Given the description of an element on the screen output the (x, y) to click on. 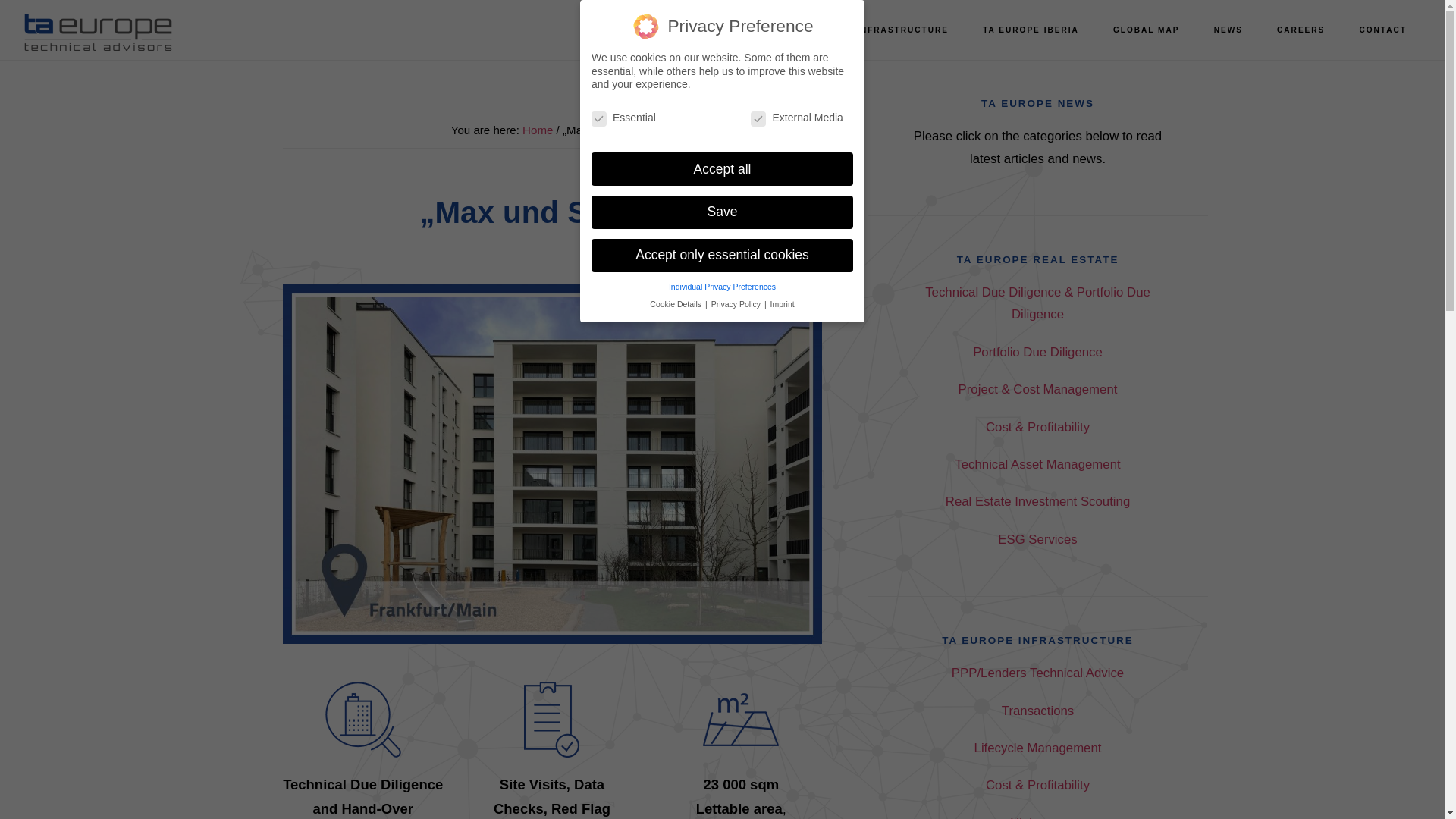
INFRASTRUCTURE (902, 29)
HOME (636, 29)
ABOUT (702, 29)
TA EUROPE (98, 31)
REAL ESTATE (788, 29)
